Given the description of an element on the screen output the (x, y) to click on. 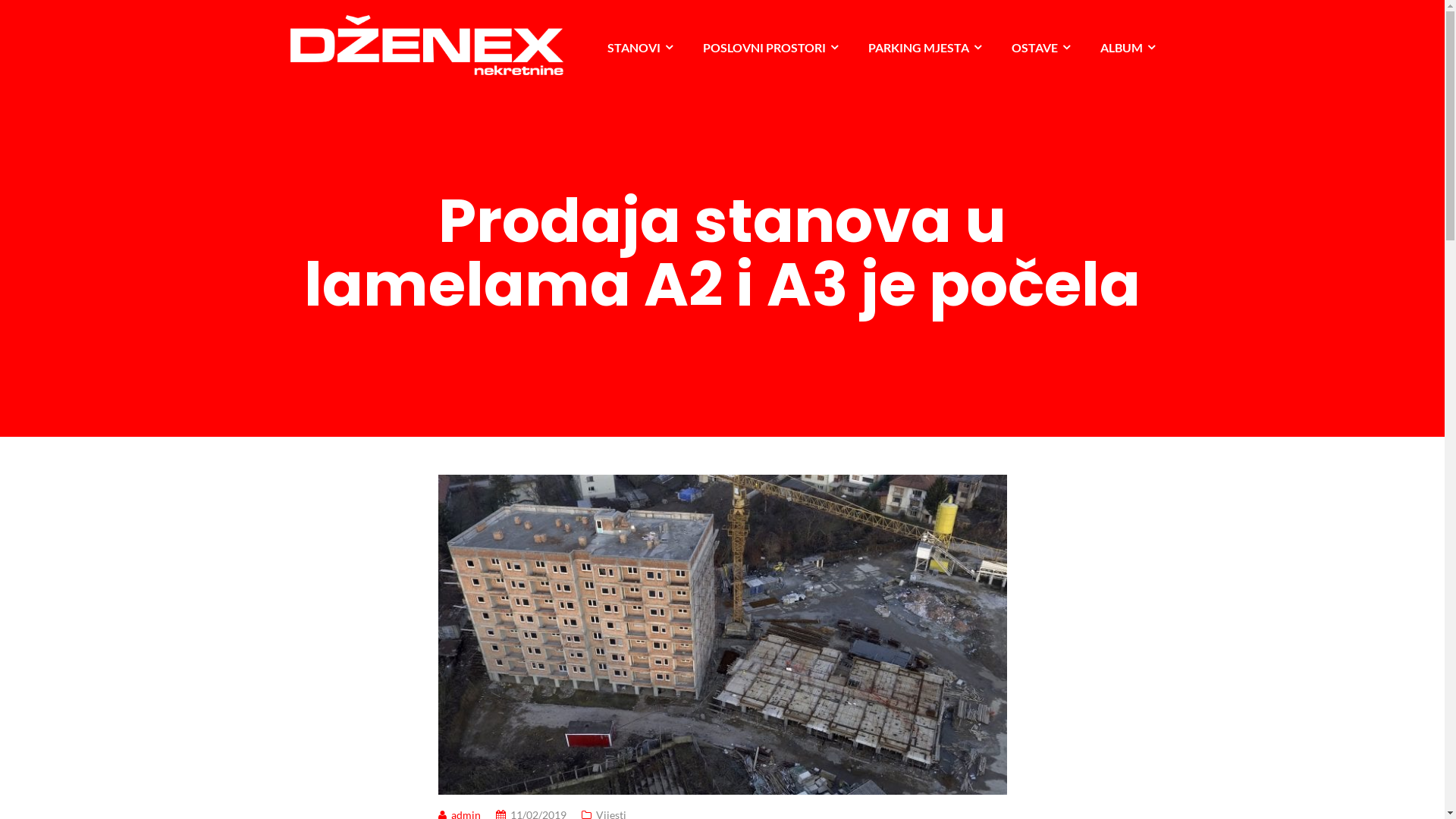
POSLOVNI PROSTORI Element type: text (769, 47)
ALBUM Element type: text (1126, 47)
PARKING MJESTA Element type: text (923, 47)
OSTAVE Element type: text (1040, 47)
STANOVI Element type: text (638, 47)
